Given the description of an element on the screen output the (x, y) to click on. 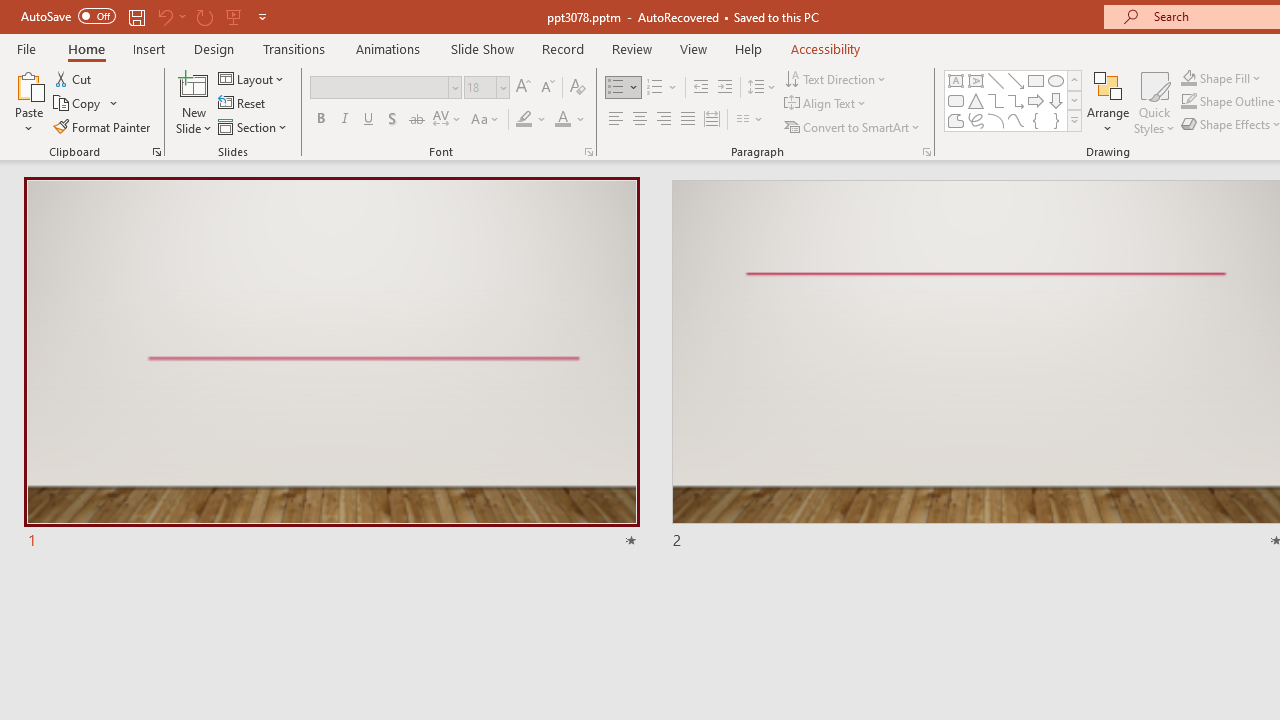
Shape Fill Dark Green, Accent 2 (1188, 78)
Freeform: Scribble (975, 120)
Right Brace (1055, 120)
Align Text (826, 103)
Arrow: Right (1035, 100)
Line Arrow (1016, 80)
